Given the description of an element on the screen output the (x, y) to click on. 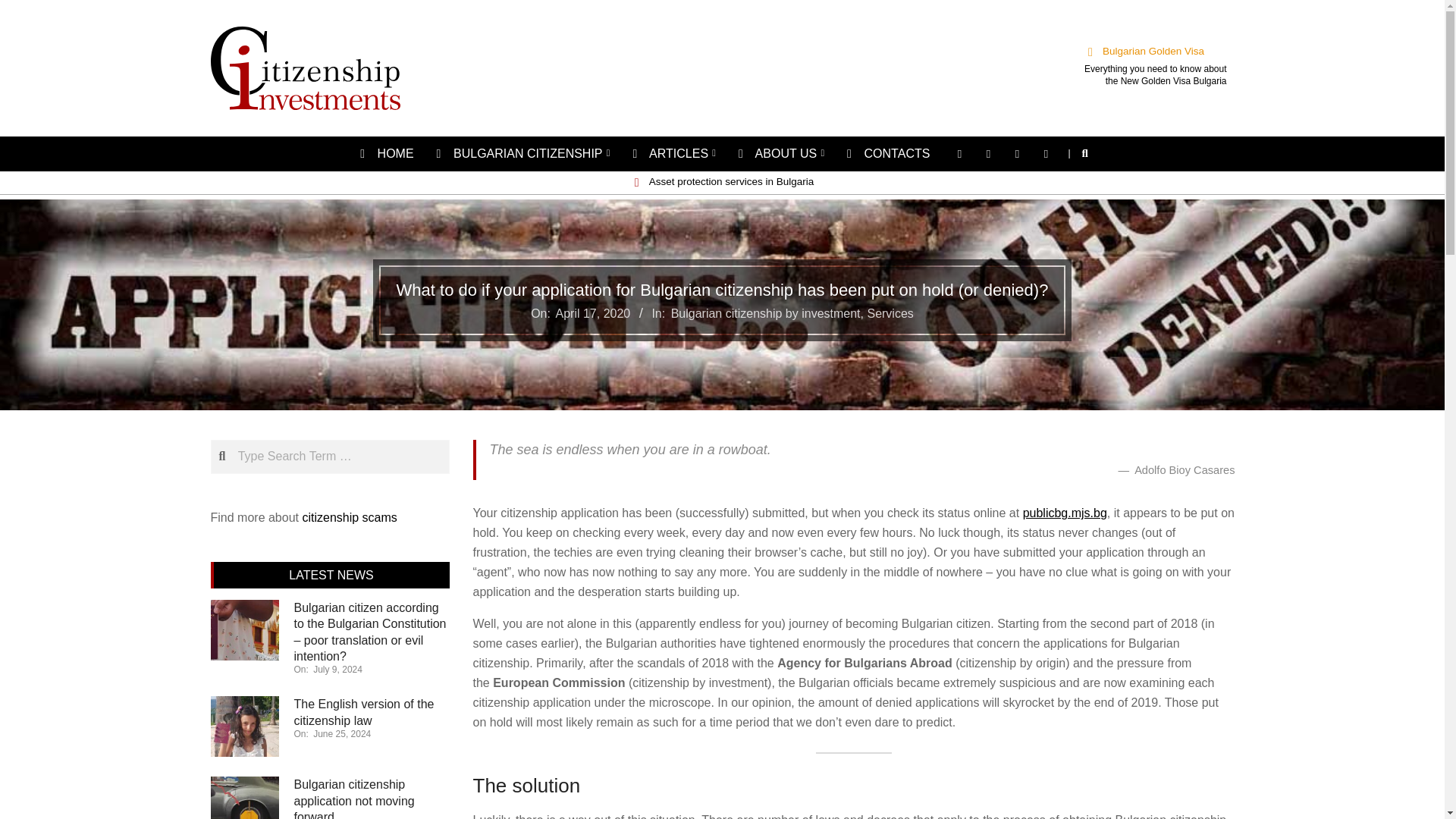
Friday, April 17, 2020, 6:32 pm (593, 313)
HOME (387, 153)
Tuesday, June 25, 2024, 5:10 pm (342, 733)
Asset protection services in Bulgaria (731, 181)
Bulgarian citizenship by investment (765, 313)
ABOUT US (780, 153)
BULGARIAN CITIZENSHIP (523, 153)
Tuesday, July 9, 2024, 4:24 pm (337, 669)
CONTACTS (887, 153)
Search (19, 7)
ARTICLES (674, 153)
